Given the description of an element on the screen output the (x, y) to click on. 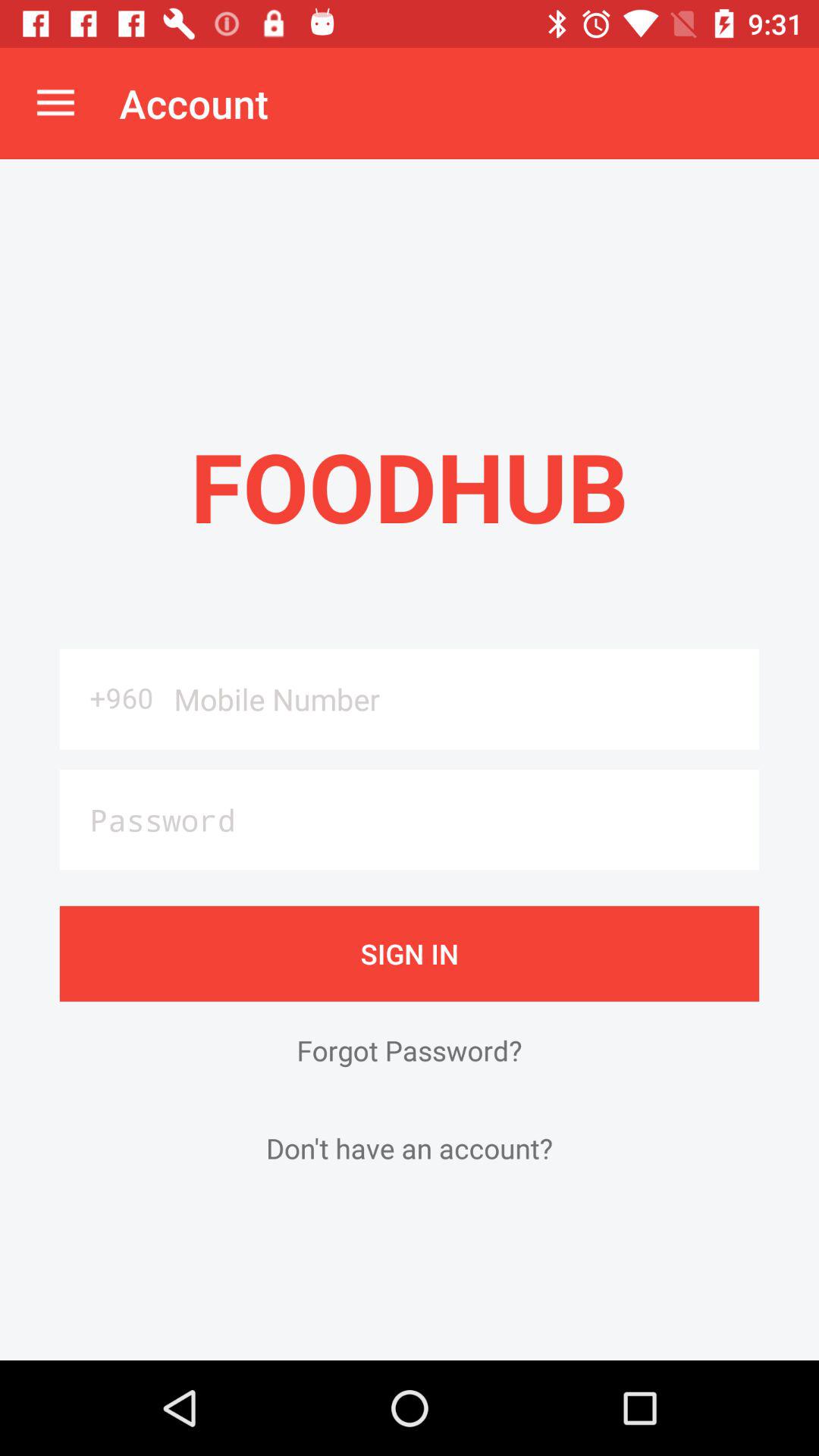
enter password (409, 819)
